Given the description of an element on the screen output the (x, y) to click on. 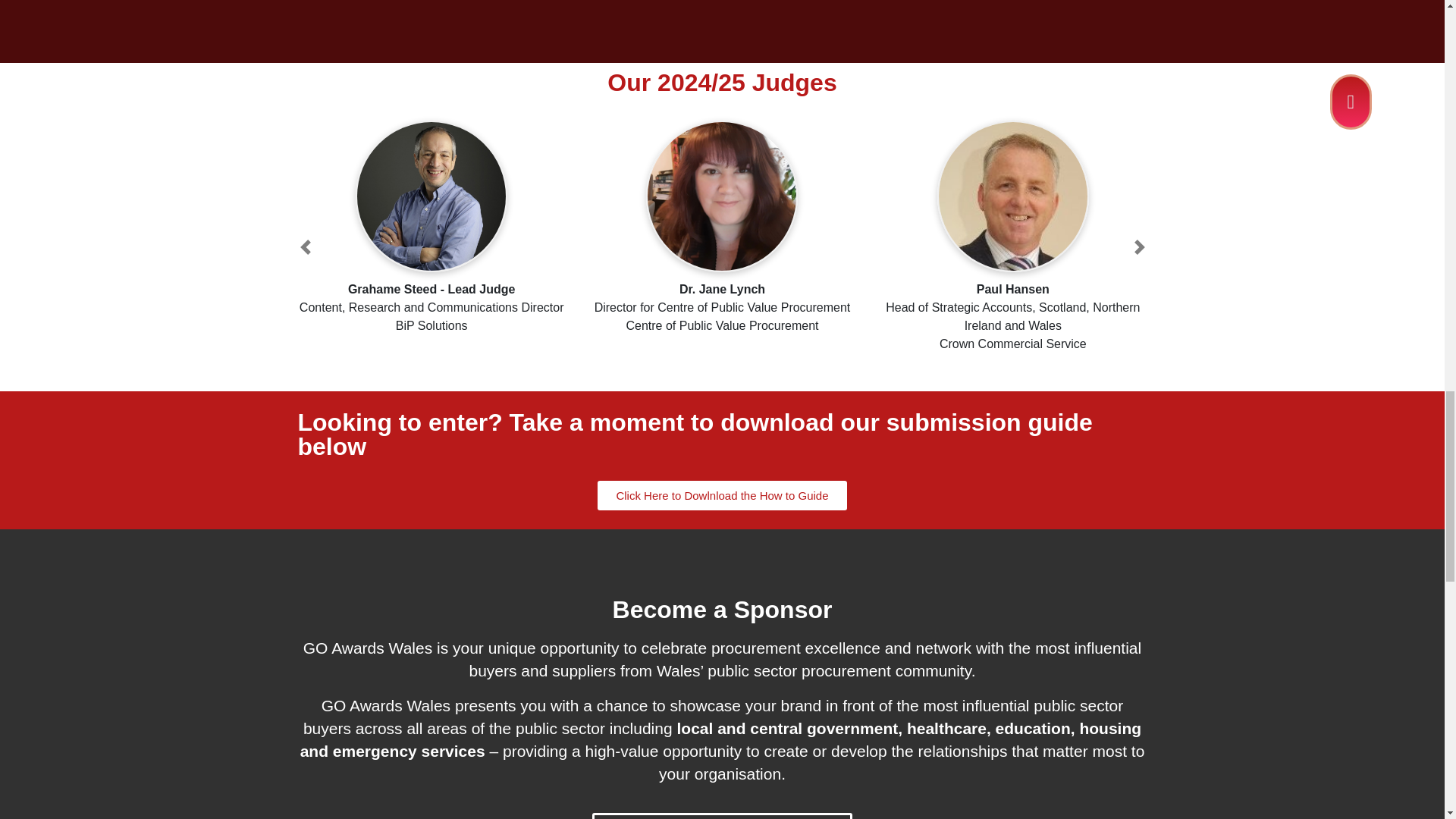
FIND OUT MORE ABOUT SPONSORSHIP (721, 816)
Click Here to Dowlnload the How to Guide (720, 495)
